Given the description of an element on the screen output the (x, y) to click on. 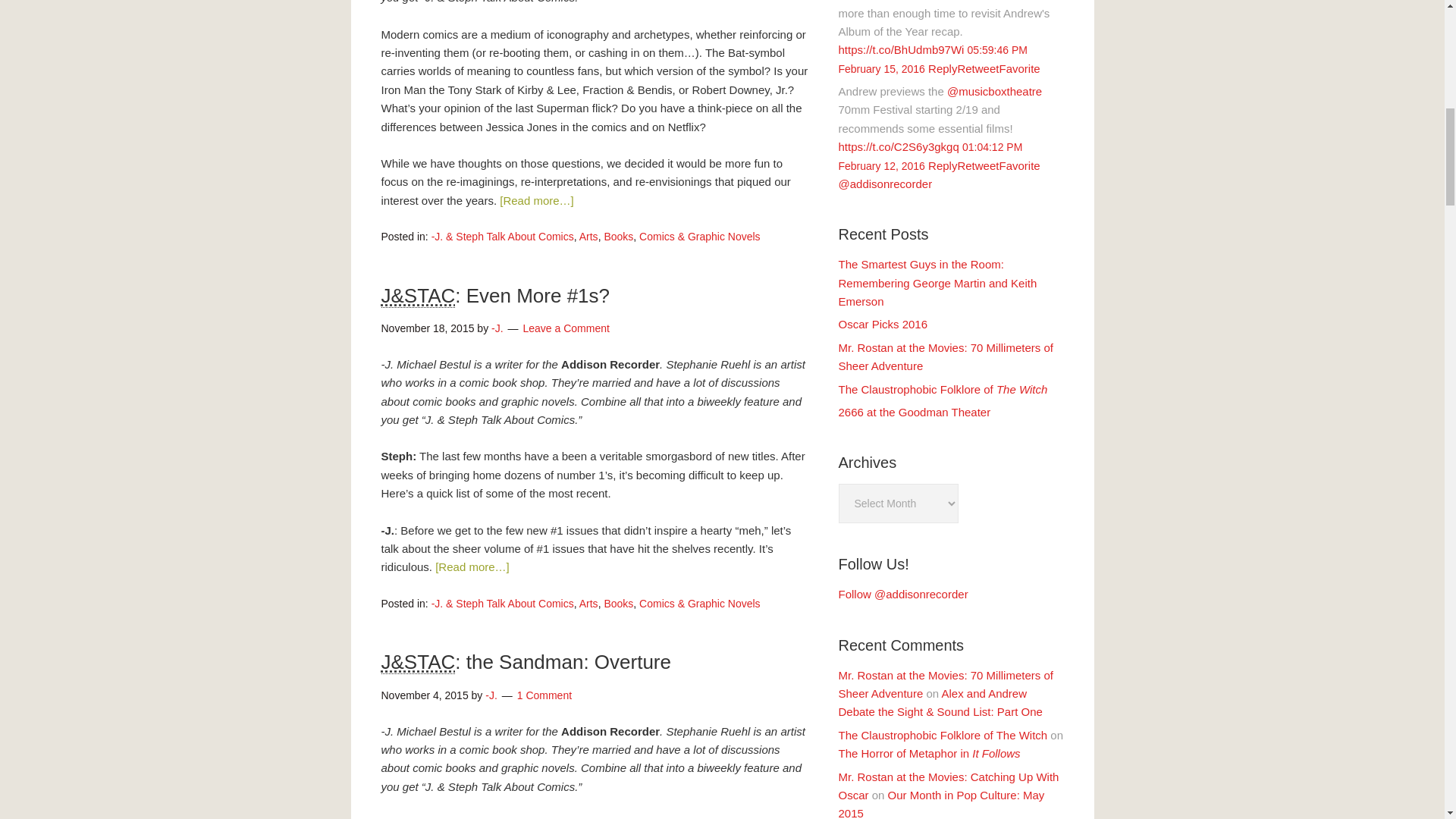
Jay and Steph Talk About Comics (417, 295)
Posts by -J. (490, 695)
Posts by -J. (497, 328)
Wednesday, November 4, 2015, 8:30 am (423, 695)
Wednesday, November 18, 2015, 8:30 am (427, 328)
Jay and Steph Talk About Comics (417, 662)
